Given the description of an element on the screen output the (x, y) to click on. 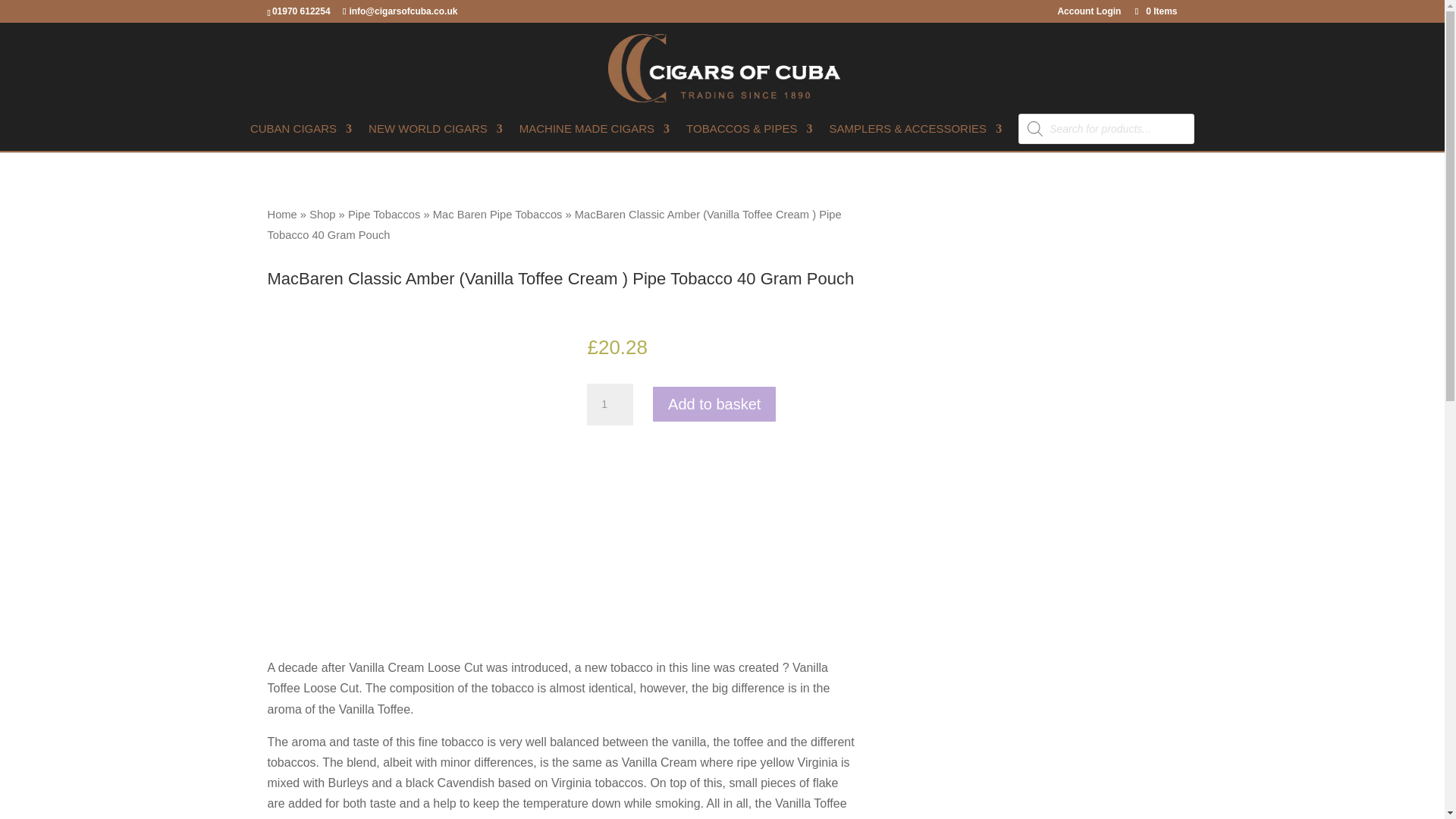
Account Login (1089, 14)
CUBAN CIGARS (301, 136)
1 (608, 404)
0 Items (1154, 10)
NEW WORLD CIGARS (435, 136)
